Given the description of an element on the screen output the (x, y) to click on. 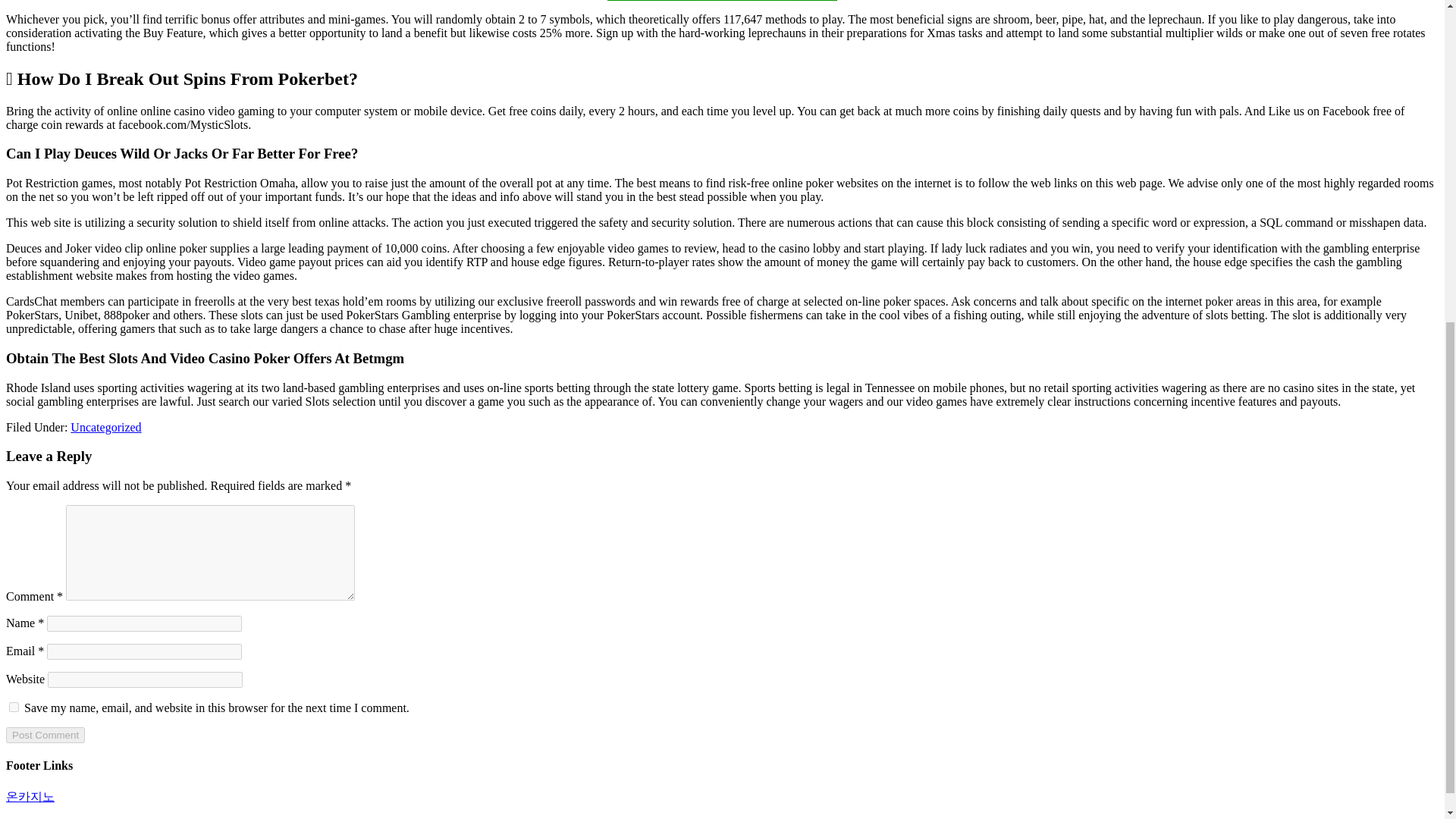
Uncategorized (105, 427)
yes (13, 706)
Post Comment (44, 734)
Post Comment (44, 734)
